Given the description of an element on the screen output the (x, y) to click on. 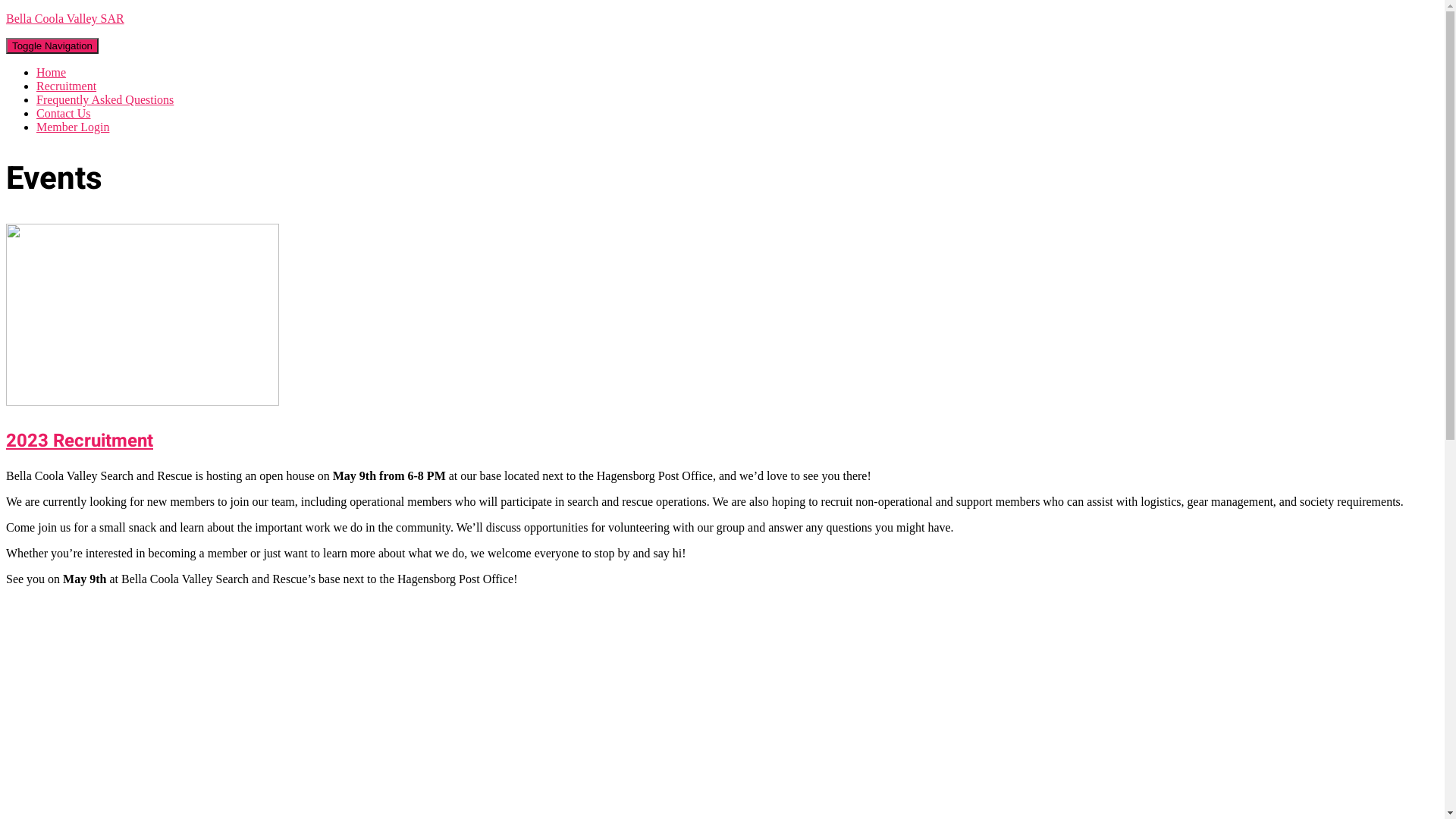
Frequently Asked Questions Element type: text (104, 99)
Bella Coola Valley SAR Element type: text (722, 18)
2023 Recruitment Element type: text (79, 440)
Home Element type: text (50, 71)
2023 Recruitment Element type: hover (142, 401)
Recruitment Element type: text (66, 85)
Contact Us Element type: text (63, 112)
Toggle Navigation Element type: text (52, 45)
Member Login Element type: text (72, 126)
